Given the description of an element on the screen output the (x, y) to click on. 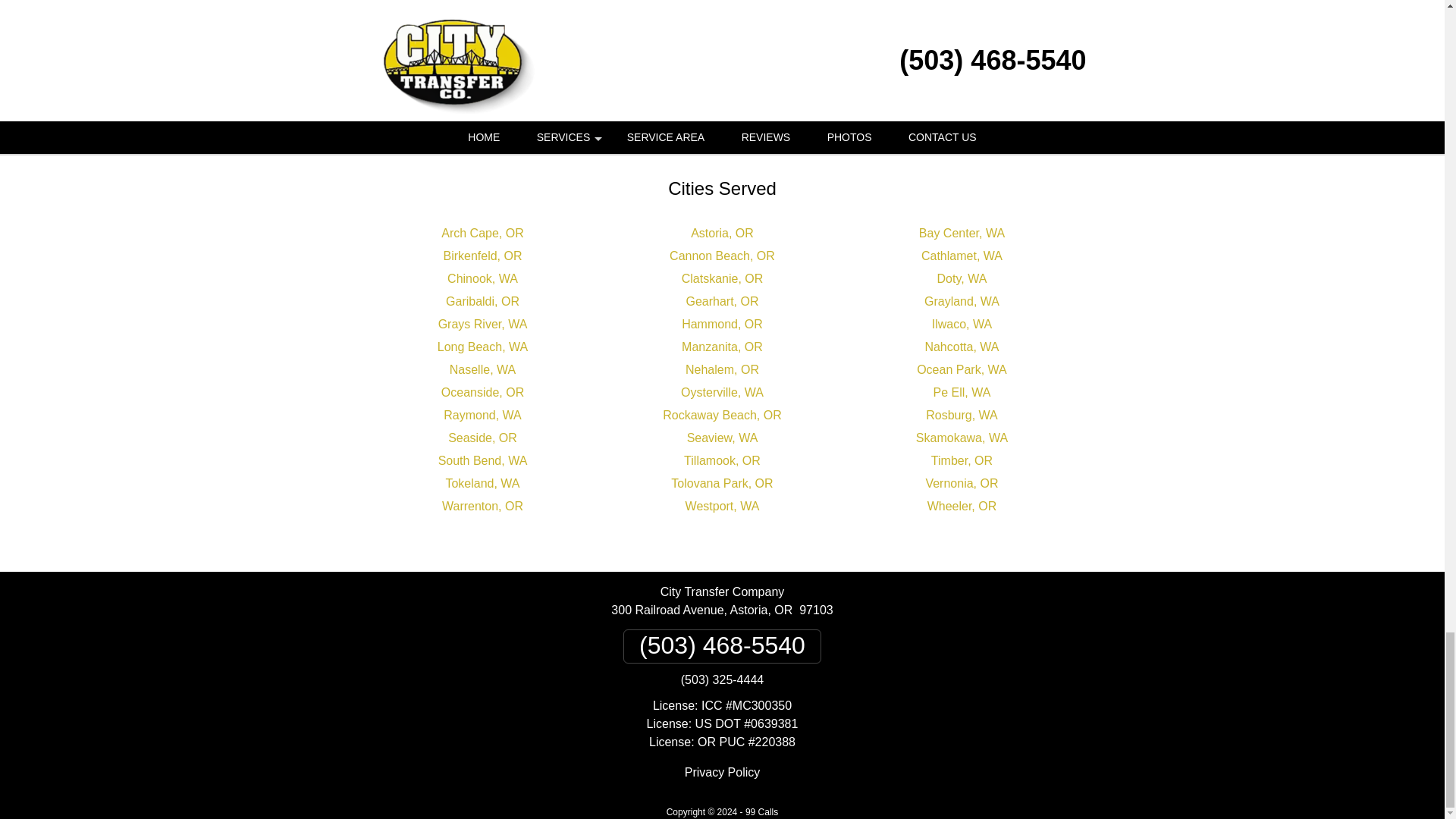
Chinook, WA (482, 278)
Facebook (638, 101)
Gearhart, OR (721, 300)
Yelp (749, 101)
Clatskanie, OR (721, 278)
Grayland, WA (961, 300)
Garibaldi, OR (482, 300)
Cannon Beach, OR (721, 255)
Google (694, 101)
Bay Center, WA (961, 232)
